Given the description of an element on the screen output the (x, y) to click on. 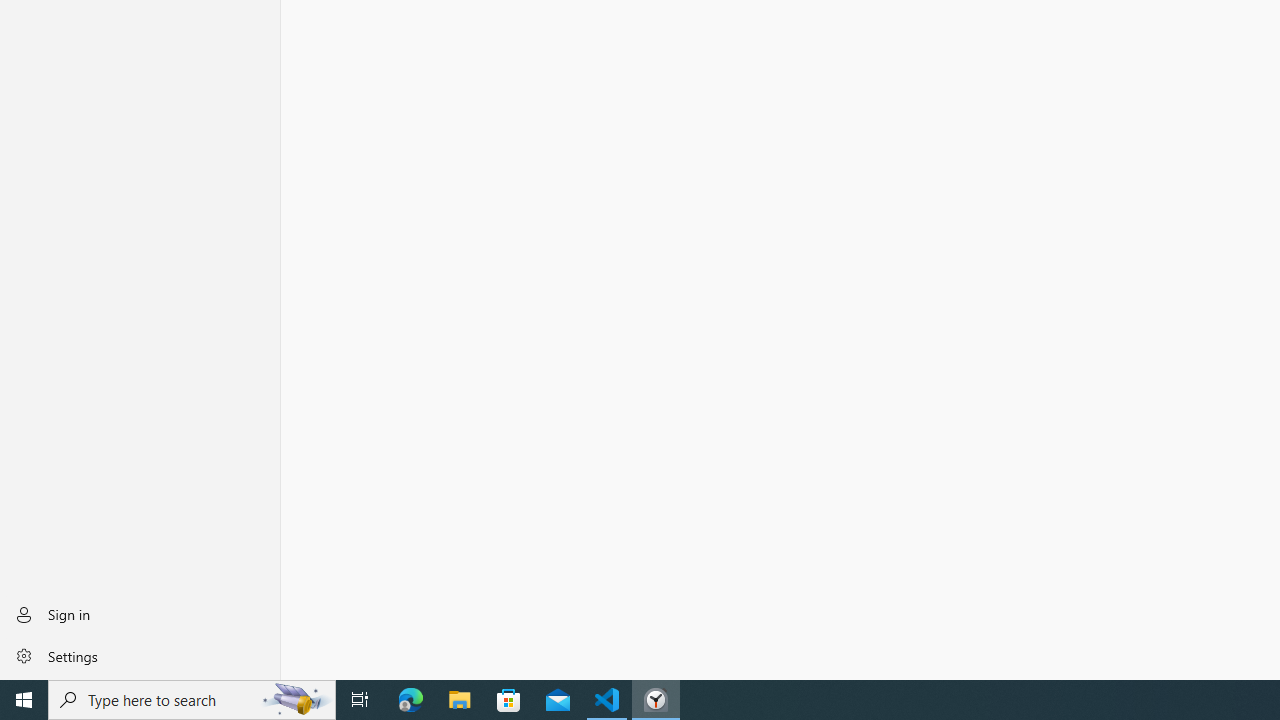
Sign in (139, 614)
Clock - 1 running window (656, 699)
Settings (139, 655)
